Given the description of an element on the screen output the (x, y) to click on. 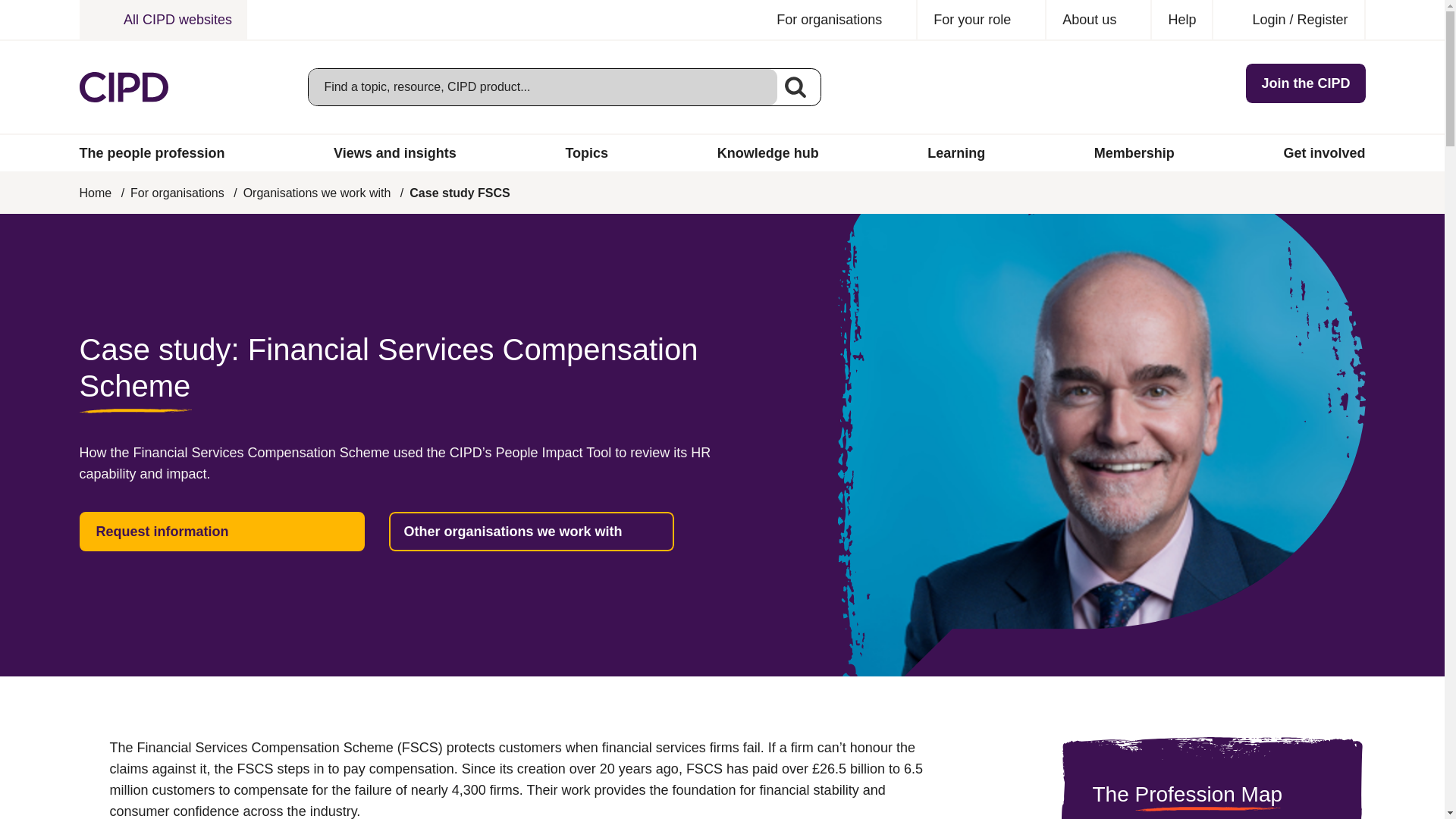
For organisations (838, 19)
All CIPD websites (162, 19)
Search (795, 86)
For your role (981, 19)
Help (1181, 19)
Search (795, 86)
CIPD (123, 87)
About us (1098, 19)
